Given the description of an element on the screen output the (x, y) to click on. 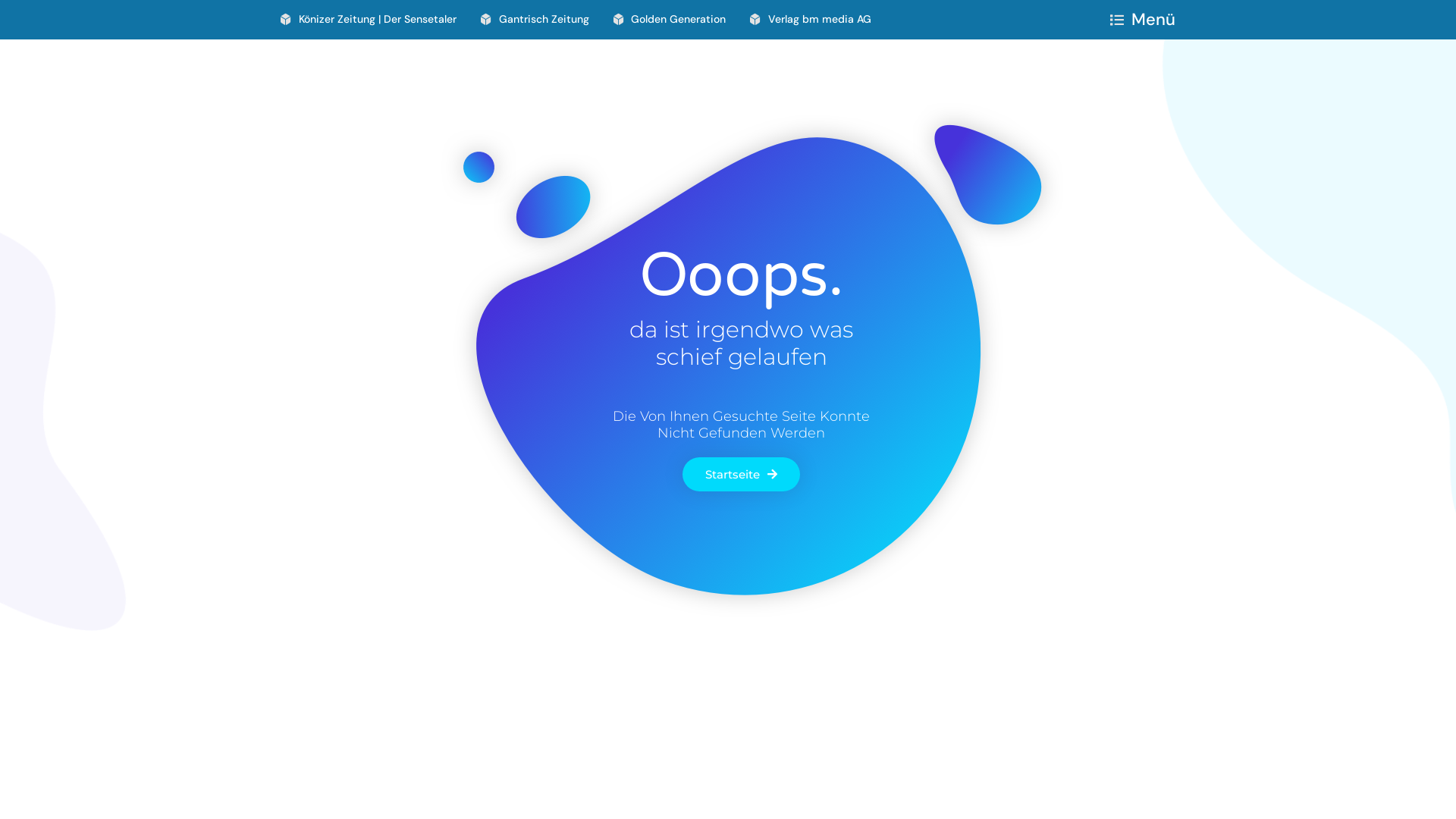
Gantrisch Zeitung Element type: text (534, 19)
Golden Generation Element type: text (668, 19)
Startseite Element type: text (741, 474)
Verlag bm media AG Element type: text (810, 19)
